Given the description of an element on the screen output the (x, y) to click on. 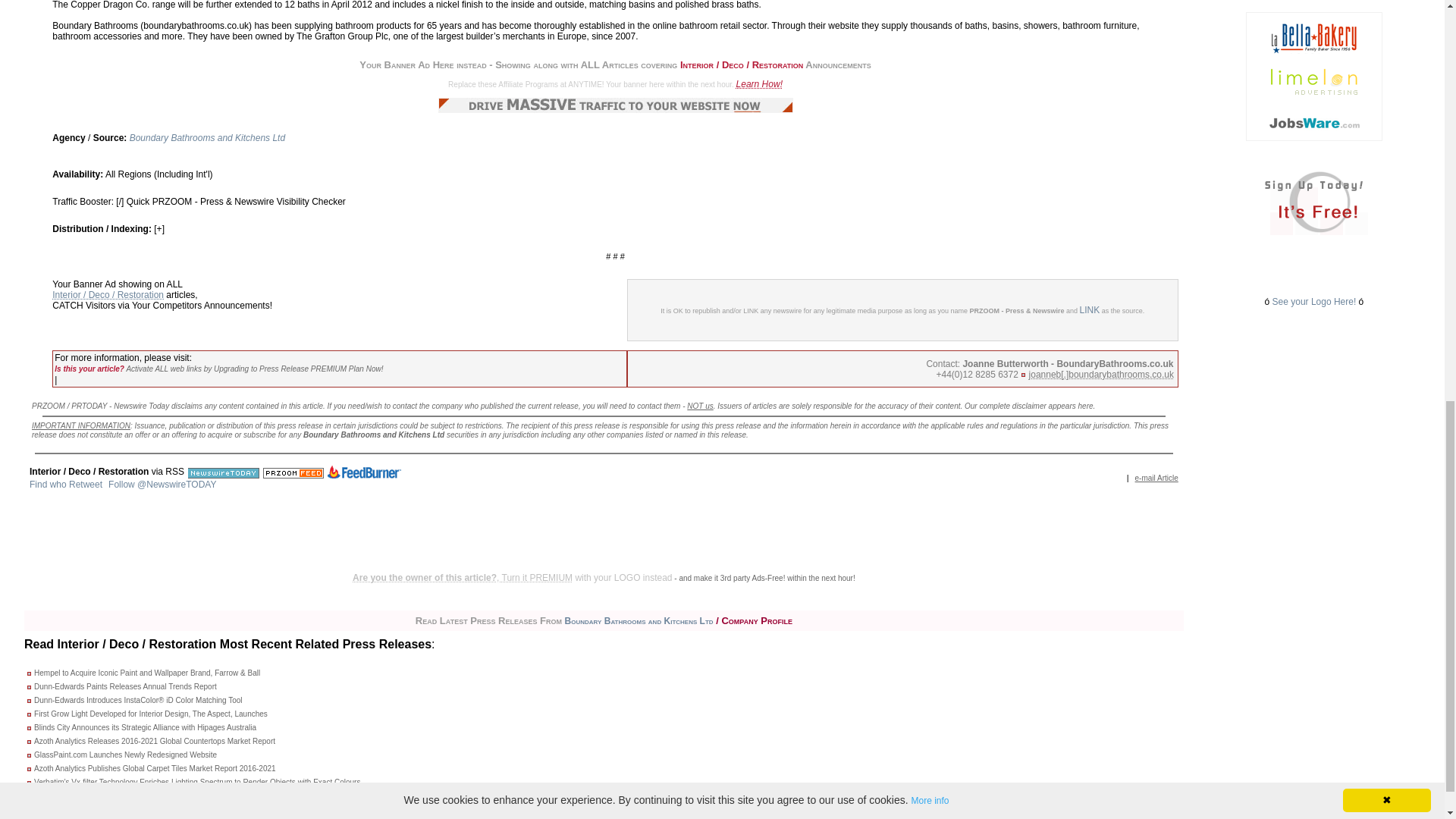
Boundary Bathrooms and Kitchens Ltd (207, 137)
here (1085, 405)
Find who Retweet (65, 484)
Learn How! (759, 83)
LINK (1090, 309)
